Given the description of an element on the screen output the (x, y) to click on. 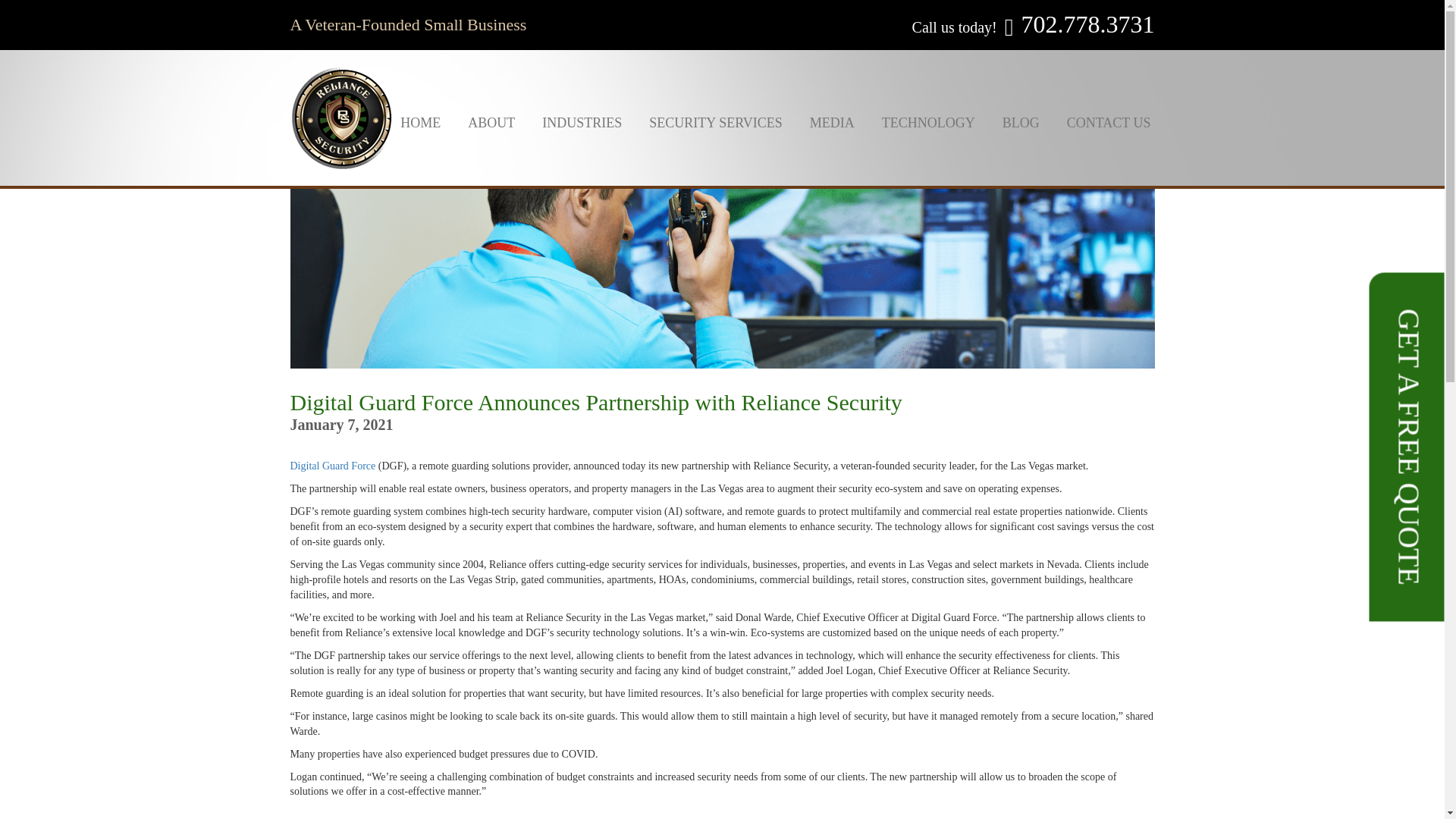
INDUSTRIES (581, 122)
HOME (420, 122)
CONTACT US (1101, 122)
SECURITY SERVICES (714, 122)
January 7, 2021 (341, 424)
MEDIA (831, 122)
ABOUT (491, 122)
702.778.3731 (1087, 23)
BLOG (1020, 122)
Home (420, 122)
About (491, 122)
Industries (581, 122)
Security Services (714, 122)
TECHNOLOGY (927, 122)
